Given the description of an element on the screen output the (x, y) to click on. 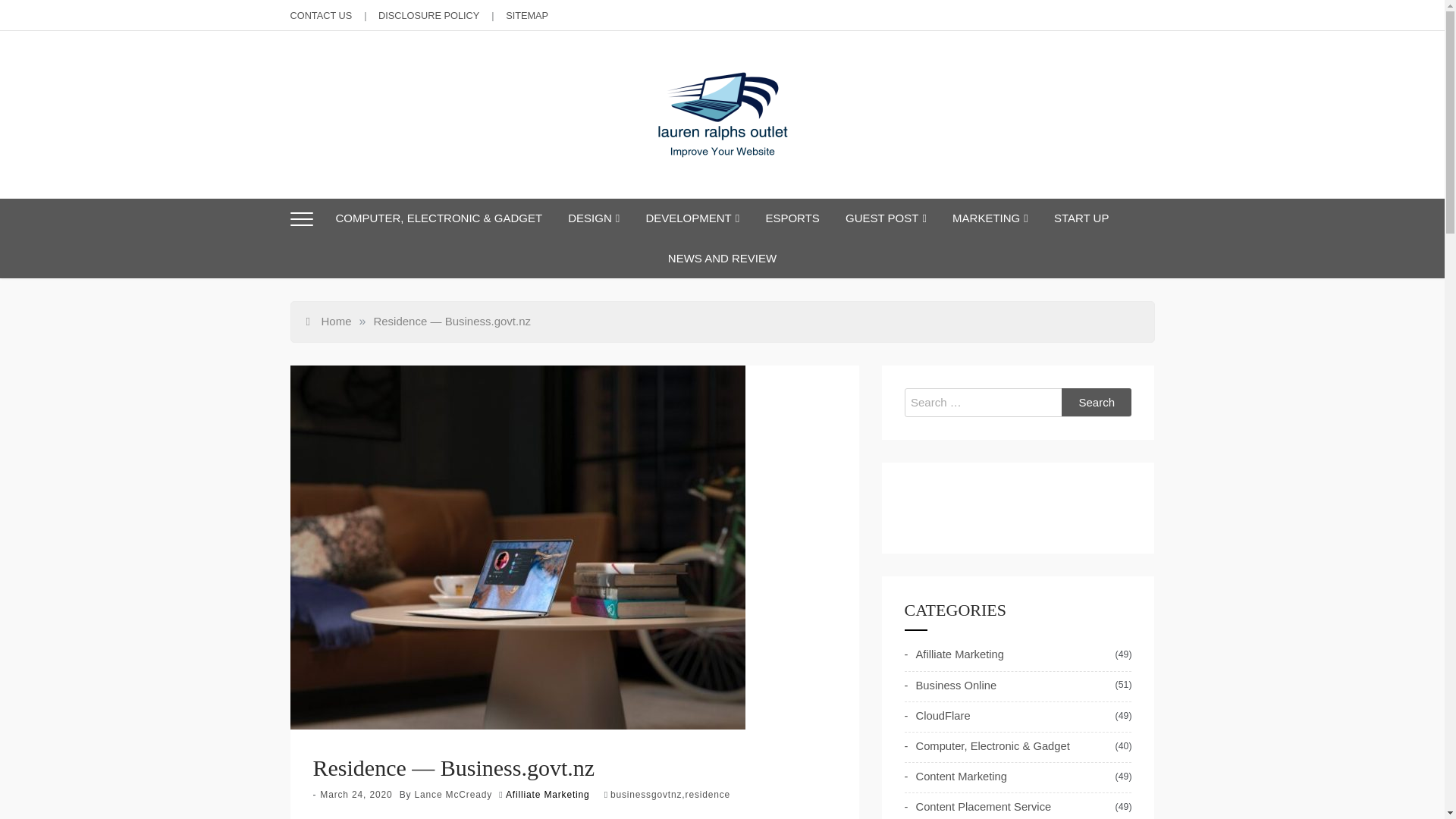
Search (1096, 402)
Search (1096, 402)
